Given the description of an element on the screen output the (x, y) to click on. 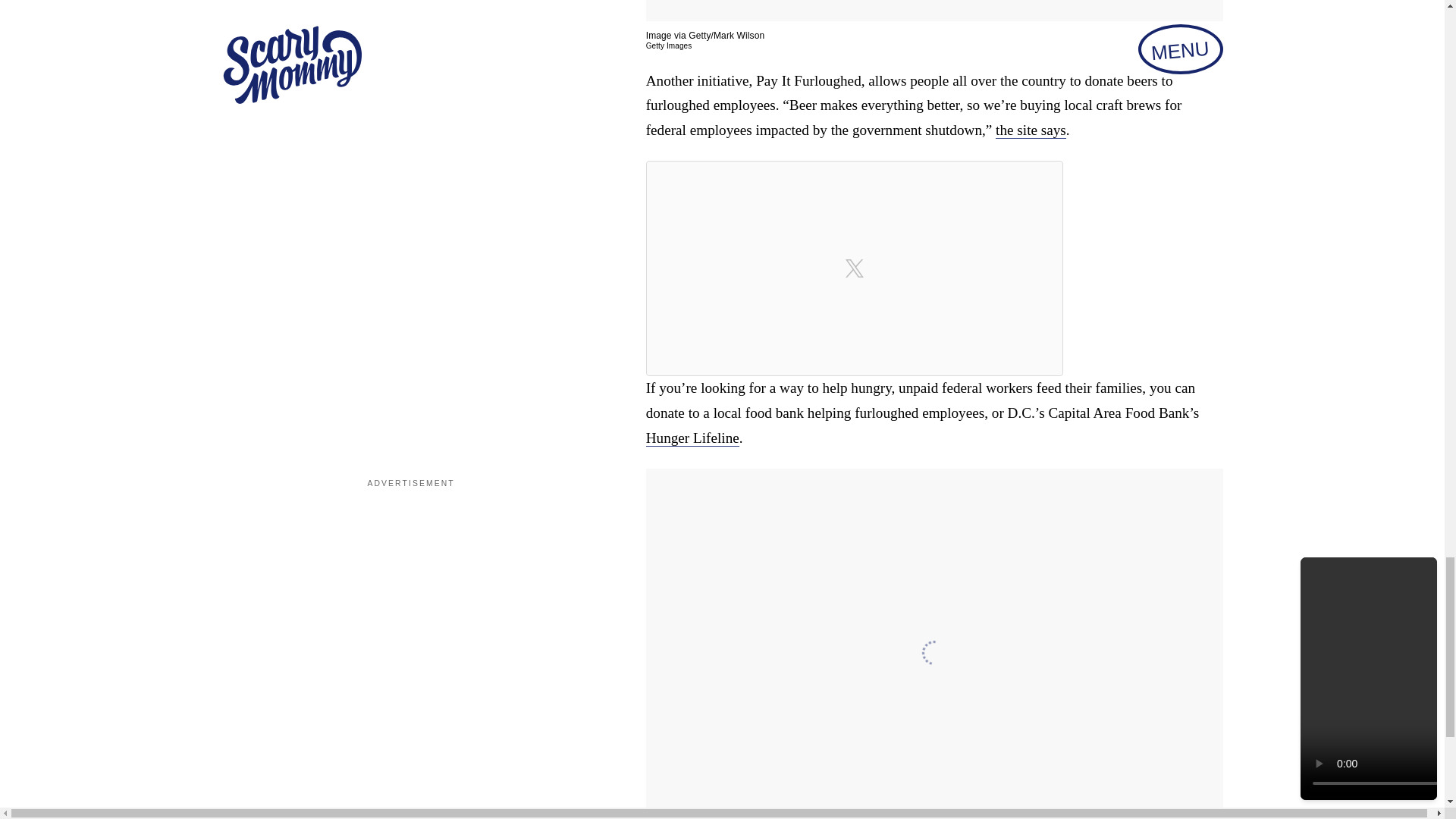
the site says (1030, 130)
Hunger Lifeline (692, 437)
